Given the description of an element on the screen output the (x, y) to click on. 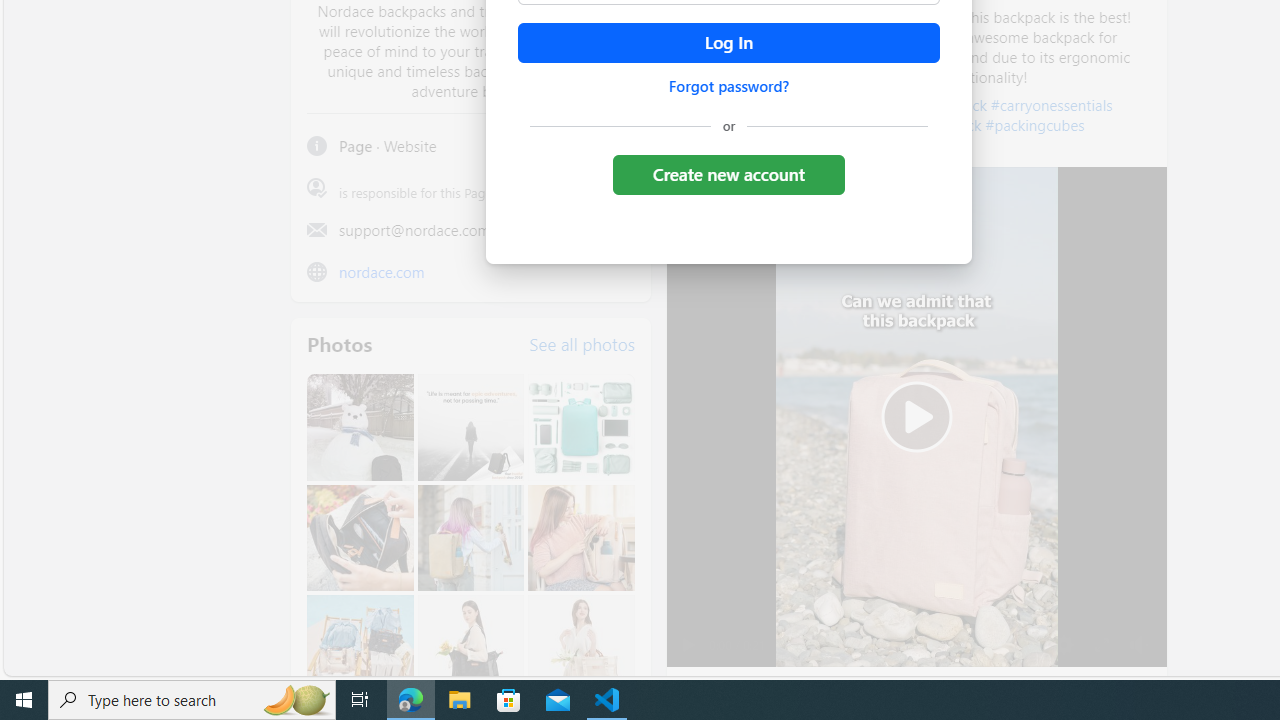
Forgot password? (728, 85)
Accessible login button (728, 43)
Create new account (728, 174)
